Given the description of an element on the screen output the (x, y) to click on. 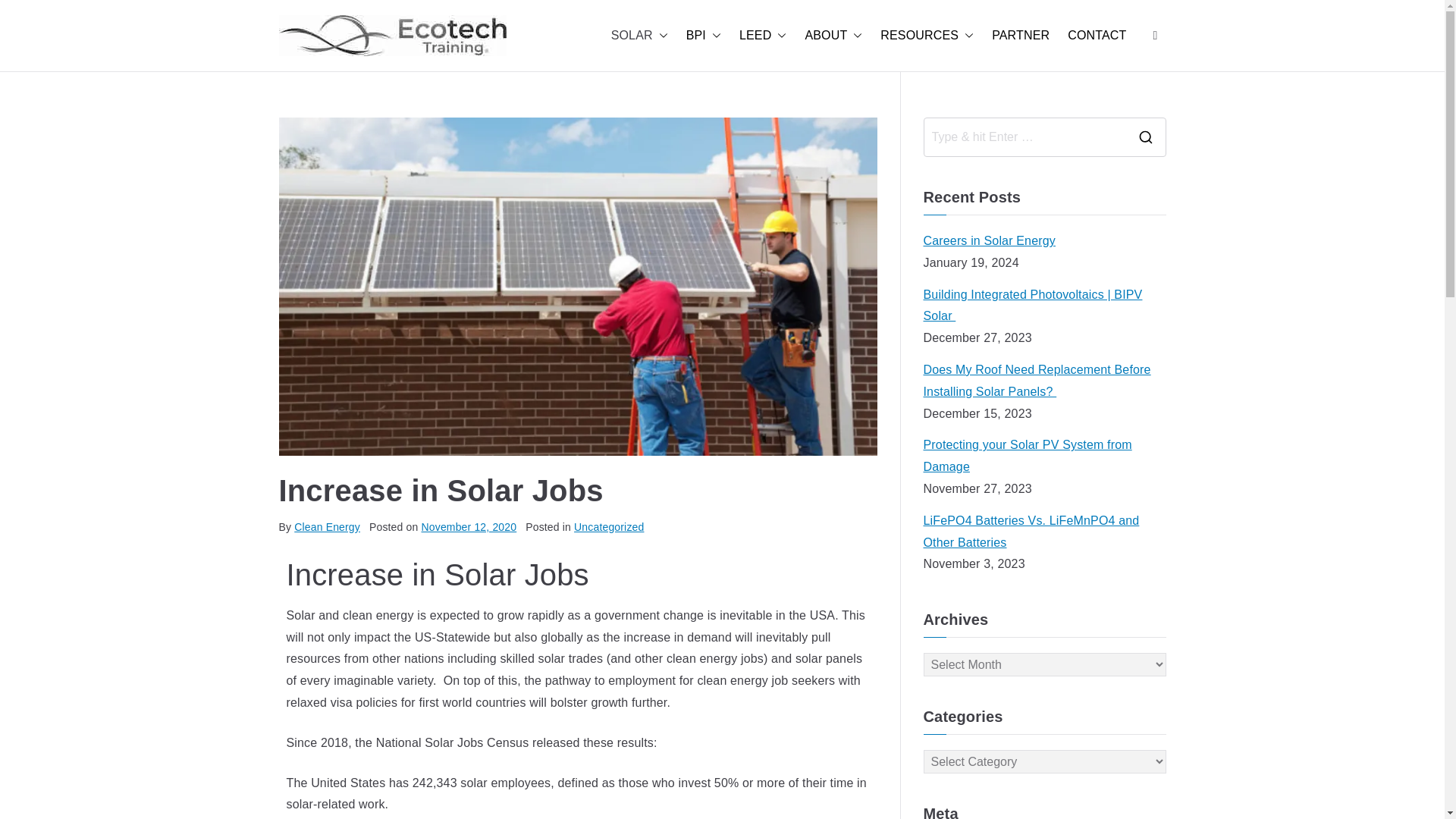
CONTACT (1096, 35)
Search for: (1024, 136)
ABOUT (833, 35)
LEED (762, 35)
SOLAR (639, 35)
BPI (702, 35)
RESOURCES (927, 35)
PARTNER (1020, 35)
